Given the description of an element on the screen output the (x, y) to click on. 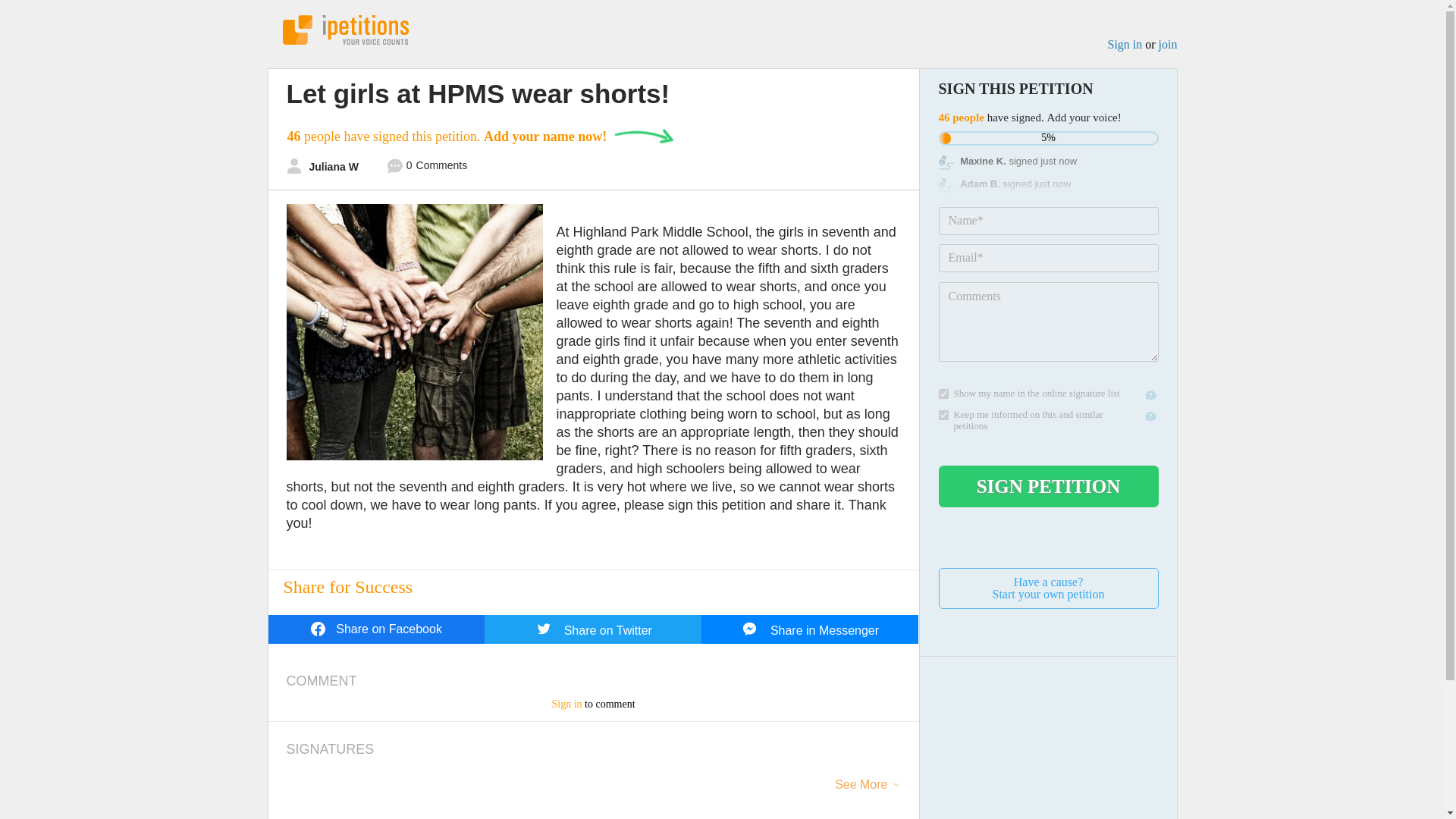
Share on Facebook (375, 629)
Sign in (1123, 43)
0 Comments (427, 167)
iPetitions (344, 30)
Share in Messenger (809, 629)
Share on Twitter (1048, 588)
Sign in (592, 629)
See More (565, 704)
join (859, 790)
1 (1167, 43)
SIGN PETITION (944, 393)
1 (1048, 486)
